Given the description of an element on the screen output the (x, y) to click on. 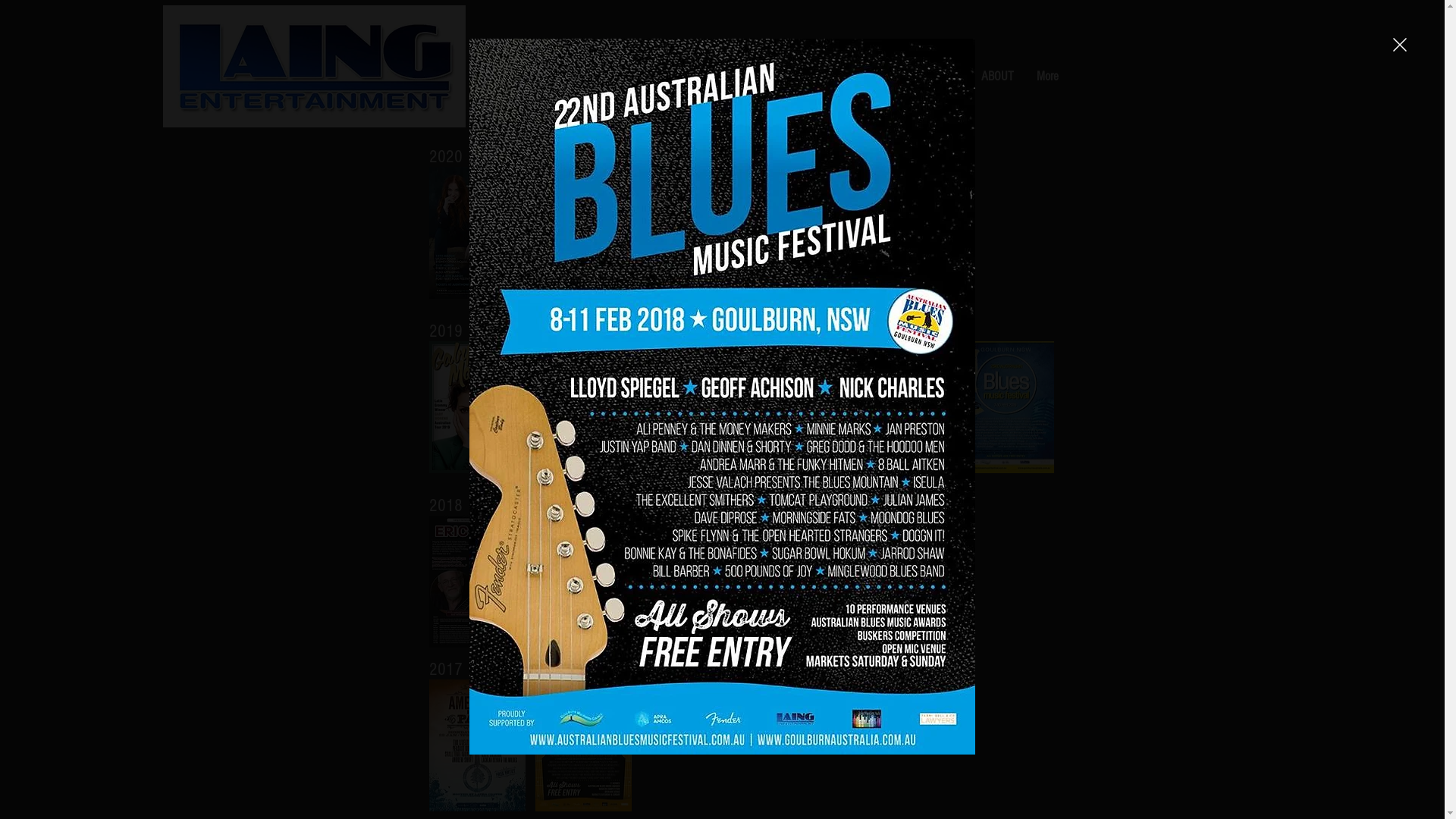
ARTIST ROSTER Element type: text (635, 76)
PAST TOURS & EVENTS Element type: text (903, 76)
CURRENT TOURS & EVENTS Element type: text (760, 76)
HOME Element type: text (561, 76)
ABOUT Element type: text (996, 76)
